Given the description of an element on the screen output the (x, y) to click on. 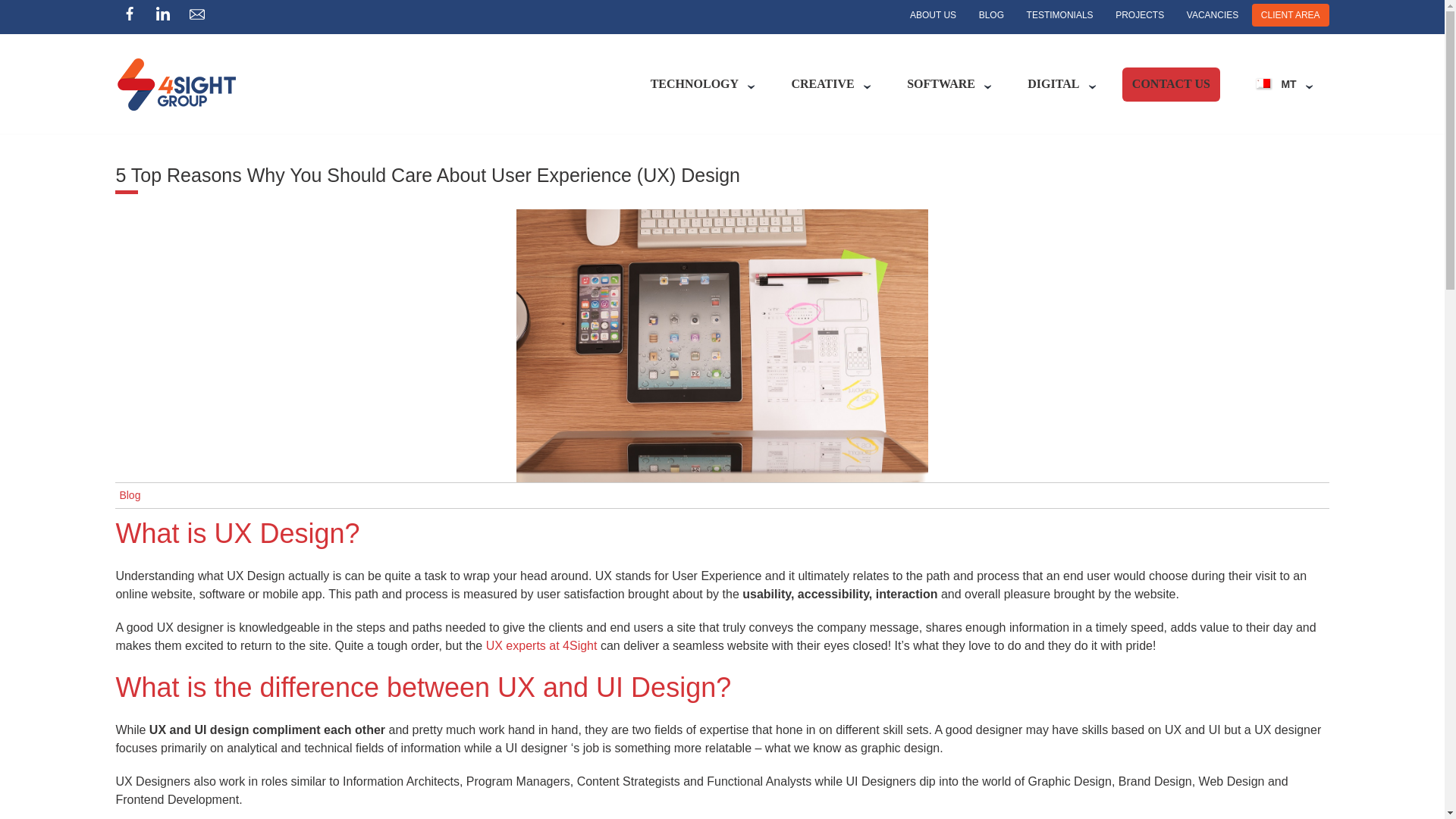
CLIENT AREA (1290, 15)
TECHNOLOGY (694, 84)
ABOUT US (933, 15)
BLOG (991, 15)
Mt (1276, 84)
PROJECTS (1139, 15)
VACANCIES (1212, 15)
TESTIMONIALS (1059, 15)
